Given the description of an element on the screen output the (x, y) to click on. 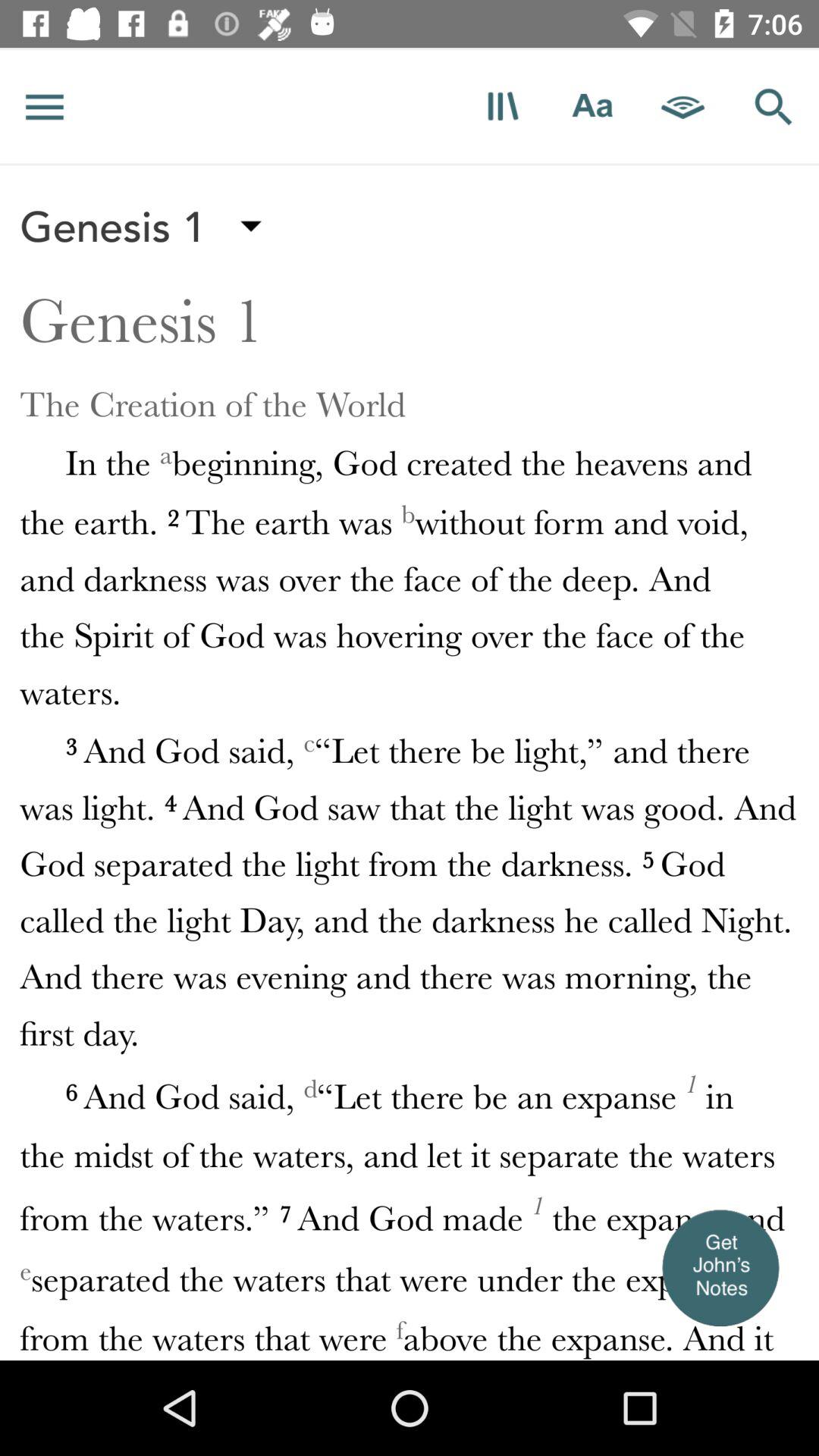
increase or decrease text size (592, 106)
